Given the description of an element on the screen output the (x, y) to click on. 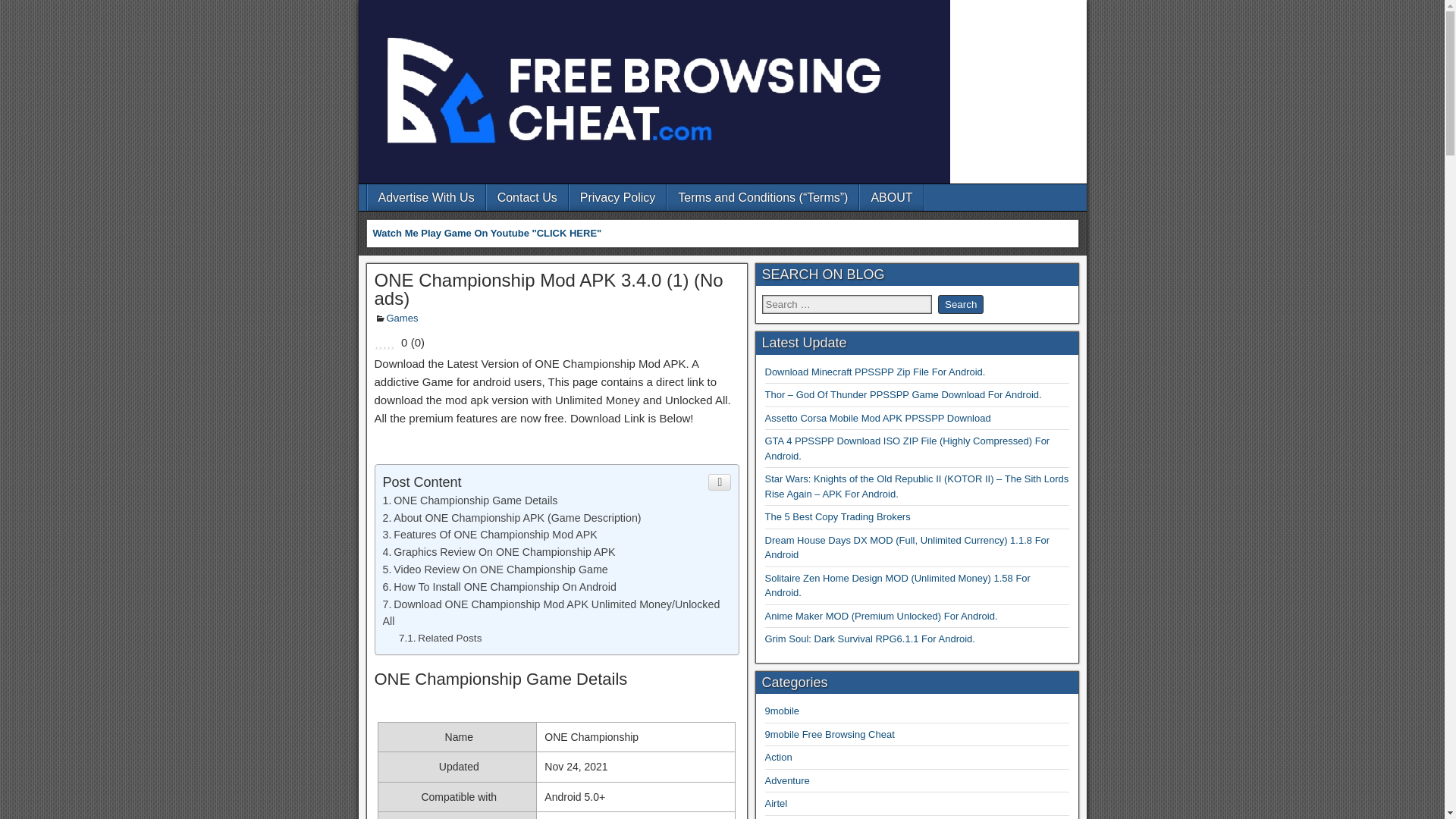
Games (403, 317)
Related Posts (439, 637)
ONE Championship Game Details (469, 500)
Related Posts (439, 637)
Search (960, 303)
Privacy Policy (617, 197)
Search (960, 303)
Video Review On ONE Championship Game (494, 569)
How To Install ONE Championship On Android (498, 586)
Watch Me Play Game On Youtube "CLICK HERE" (487, 233)
ONE Championship Game Details (469, 500)
Contact Us (526, 197)
Features Of ONE Championship Mod APK (488, 534)
Graphics Review On ONE Championship APK (497, 551)
Features Of ONE Championship Mod APK (488, 534)
